Given the description of an element on the screen output the (x, y) to click on. 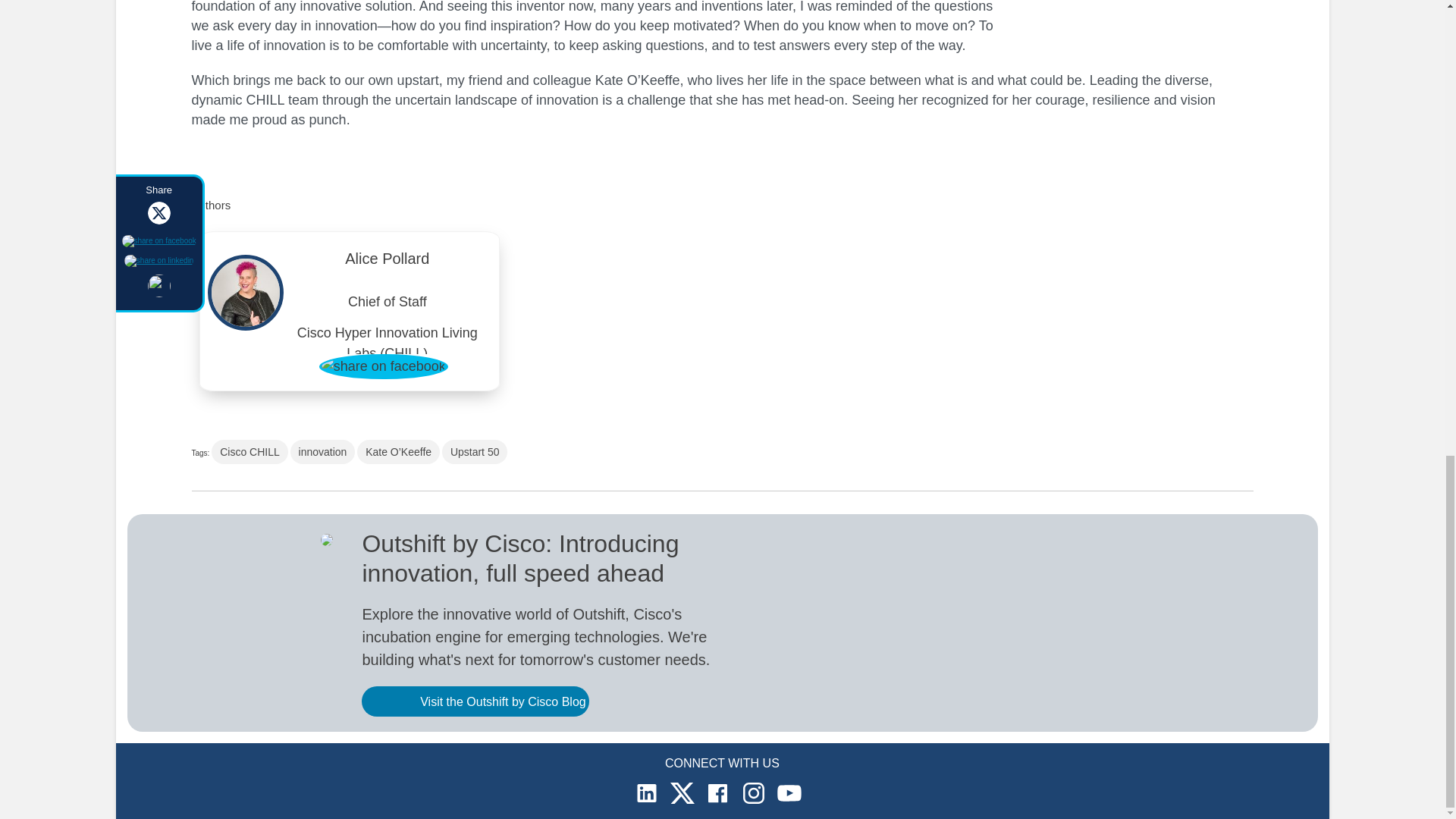
Visit the Outshift by Cisco Blog (475, 701)
Upstart 50 (475, 451)
Cisco CHILL (249, 451)
Alice Pollard (387, 262)
innovation (322, 451)
